Given the description of an element on the screen output the (x, y) to click on. 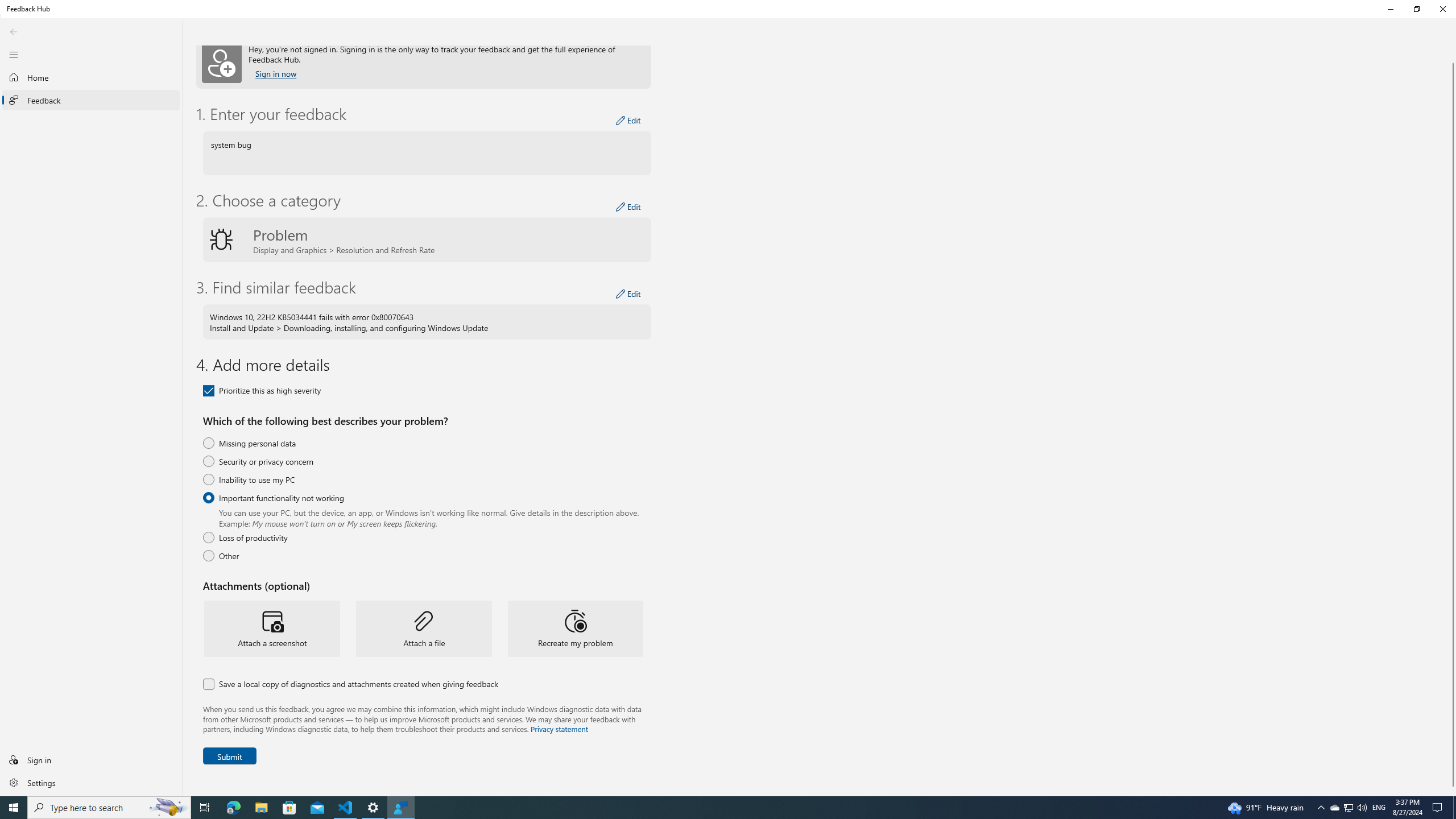
Running applications (706, 807)
Back (13, 31)
Sign in now (1333, 807)
Recreate my problem (276, 73)
Q2790: 100% (575, 628)
Microsoft Store (1361, 807)
Close Navigation (289, 807)
Task View (13, 54)
Vertical Small Decrease (204, 807)
Minimize Feedback Hub (1452, 49)
